Given the description of an element on the screen output the (x, y) to click on. 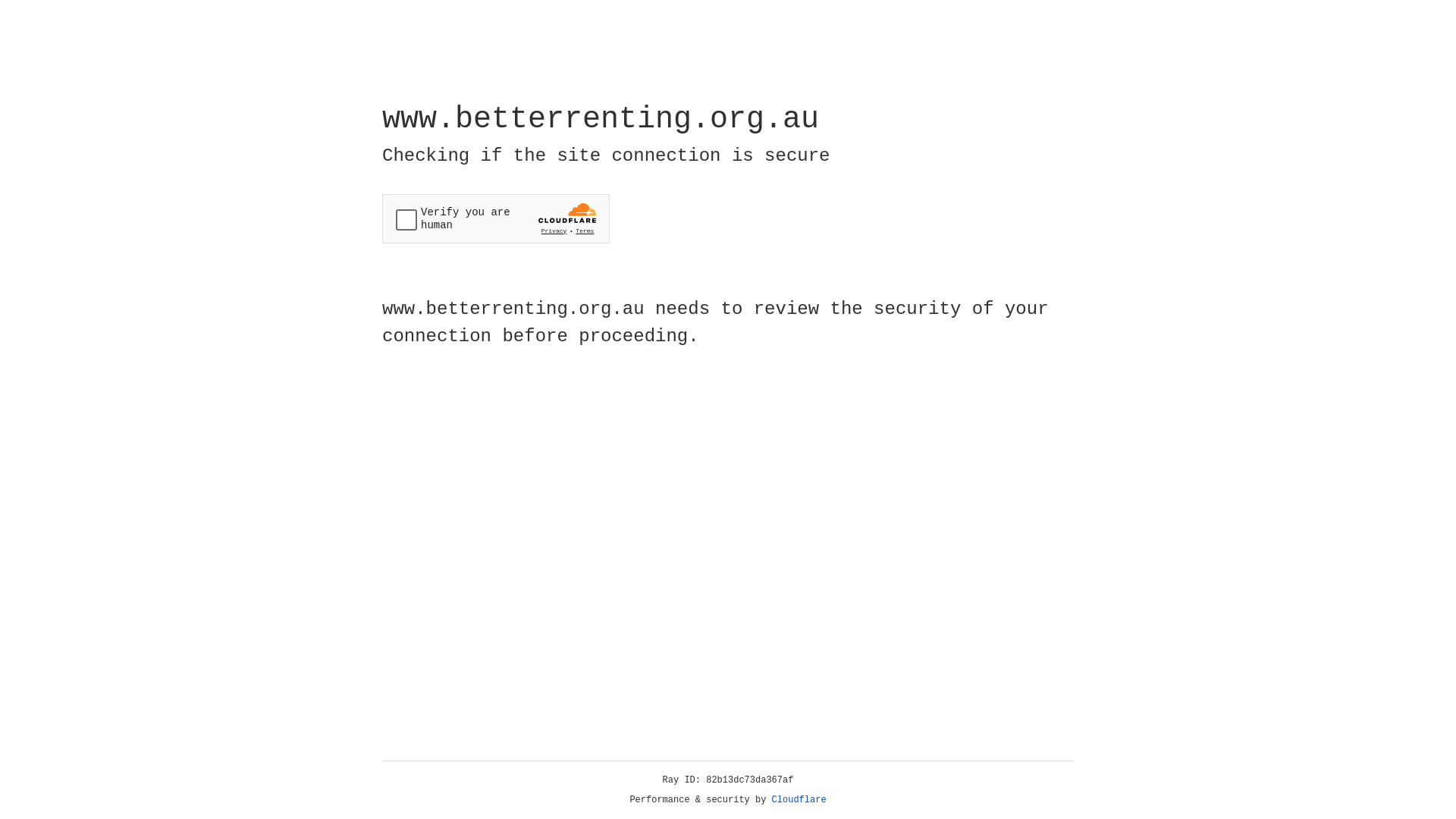
Widget containing a Cloudflare security challenge Element type: hover (495, 218)
Cloudflare Element type: text (798, 799)
